Given the description of an element on the screen output the (x, y) to click on. 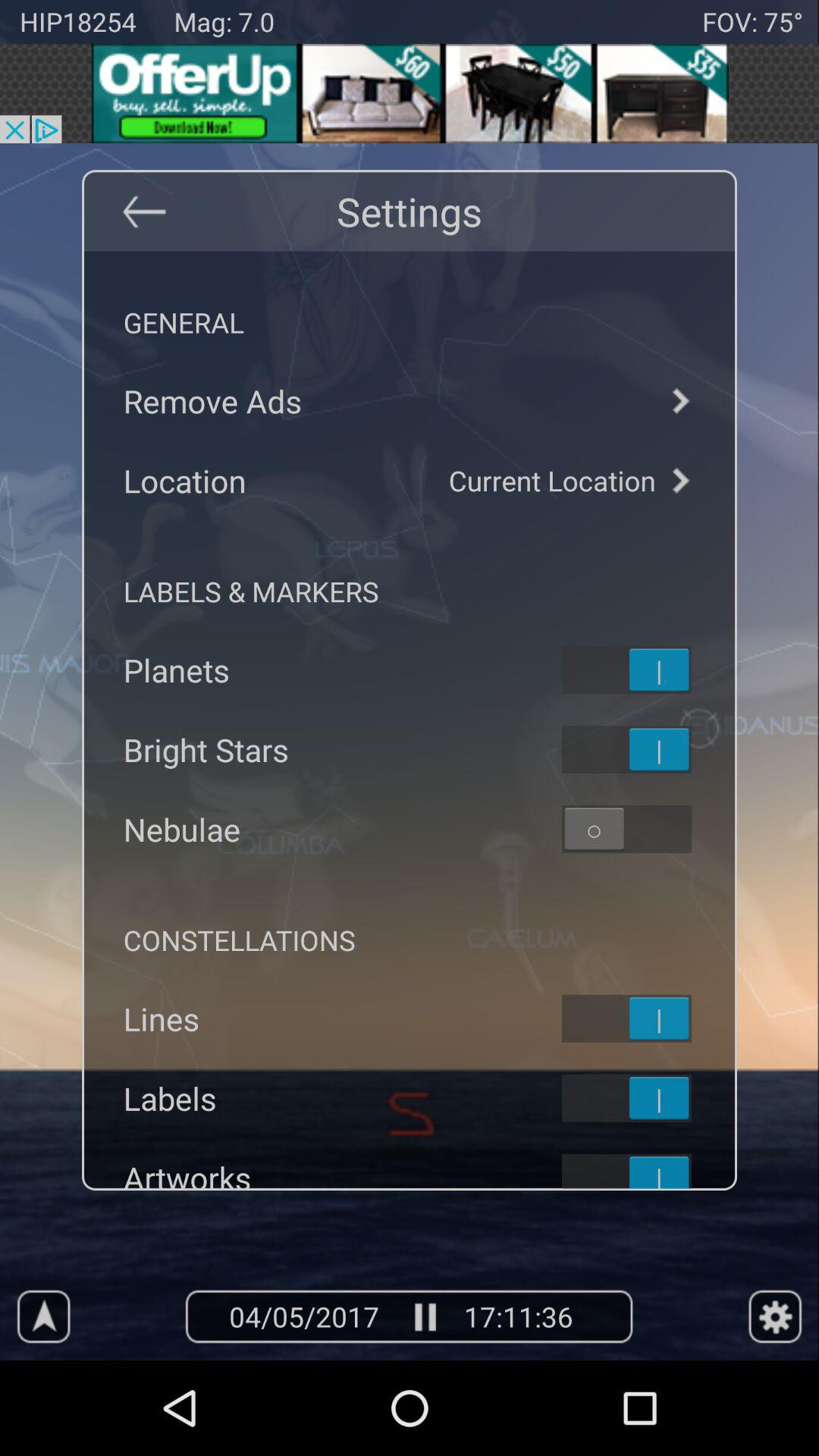
on-off (646, 1169)
